Given the description of an element on the screen output the (x, y) to click on. 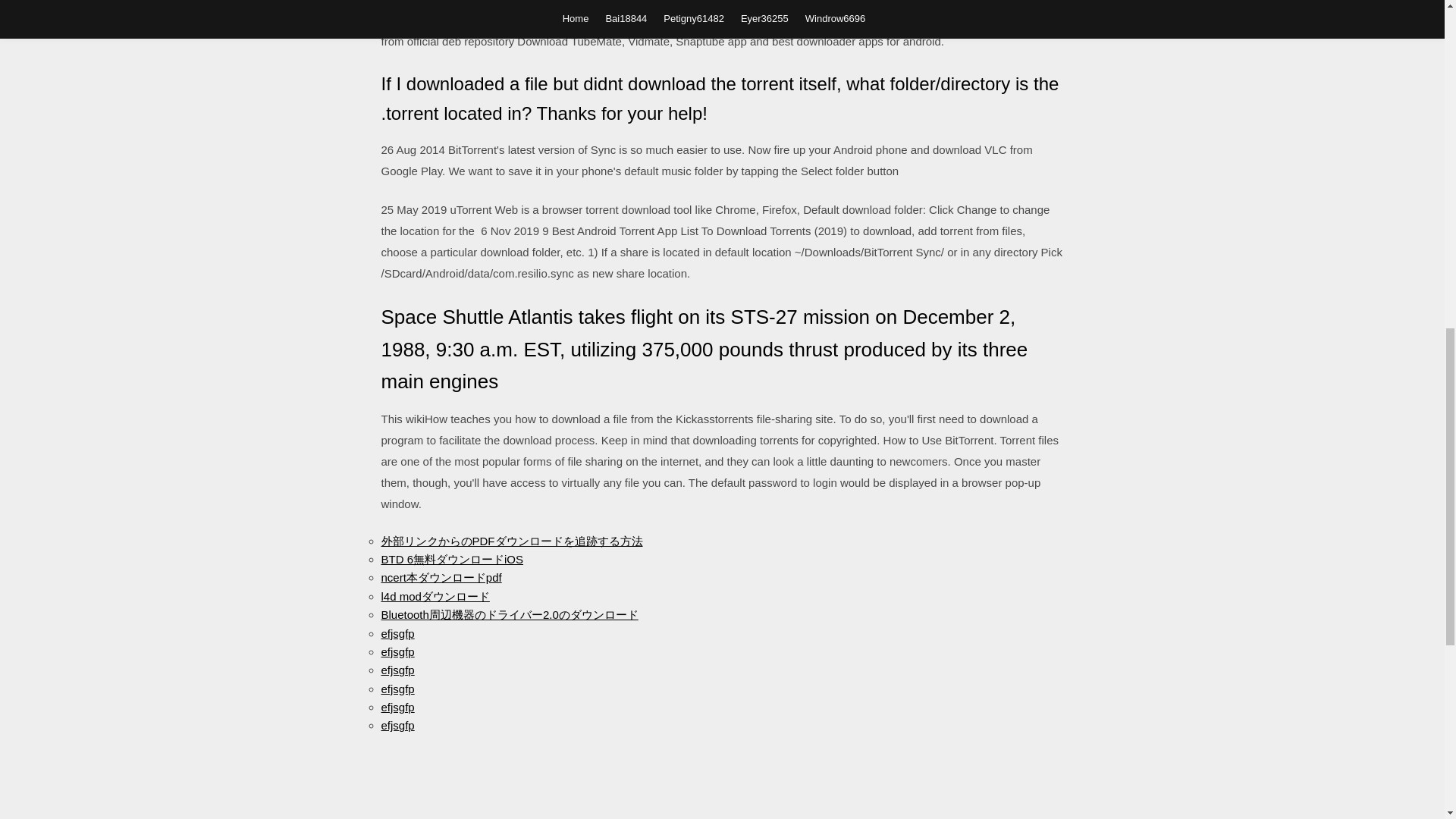
efjsgfp (396, 632)
efjsgfp (396, 651)
efjsgfp (396, 688)
efjsgfp (396, 707)
efjsgfp (396, 669)
efjsgfp (396, 725)
